Given the description of an element on the screen output the (x, y) to click on. 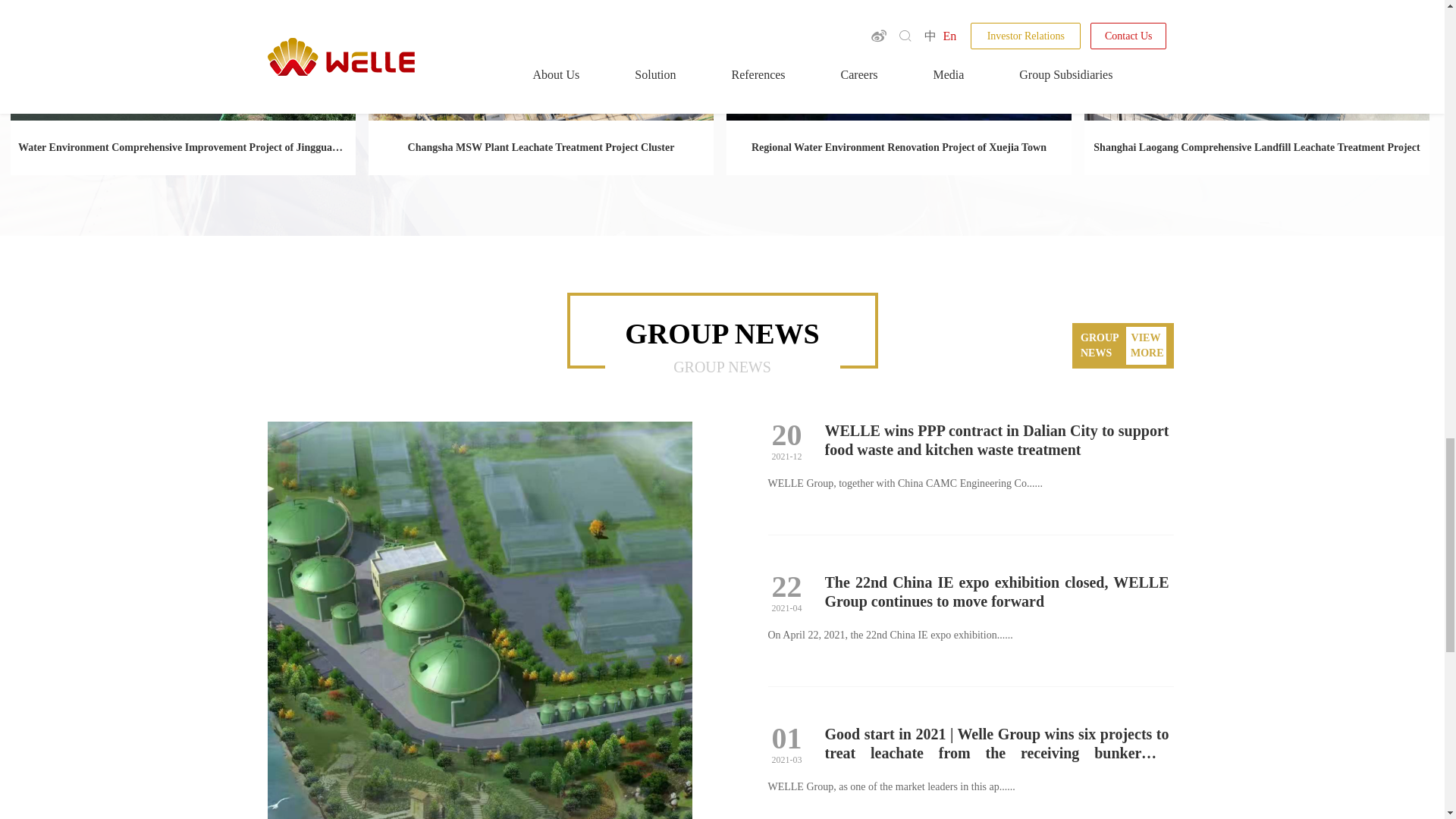
Changsha MSW Plant Leachate Treatment Project Cluster (540, 147)
